Given the description of an element on the screen output the (x, y) to click on. 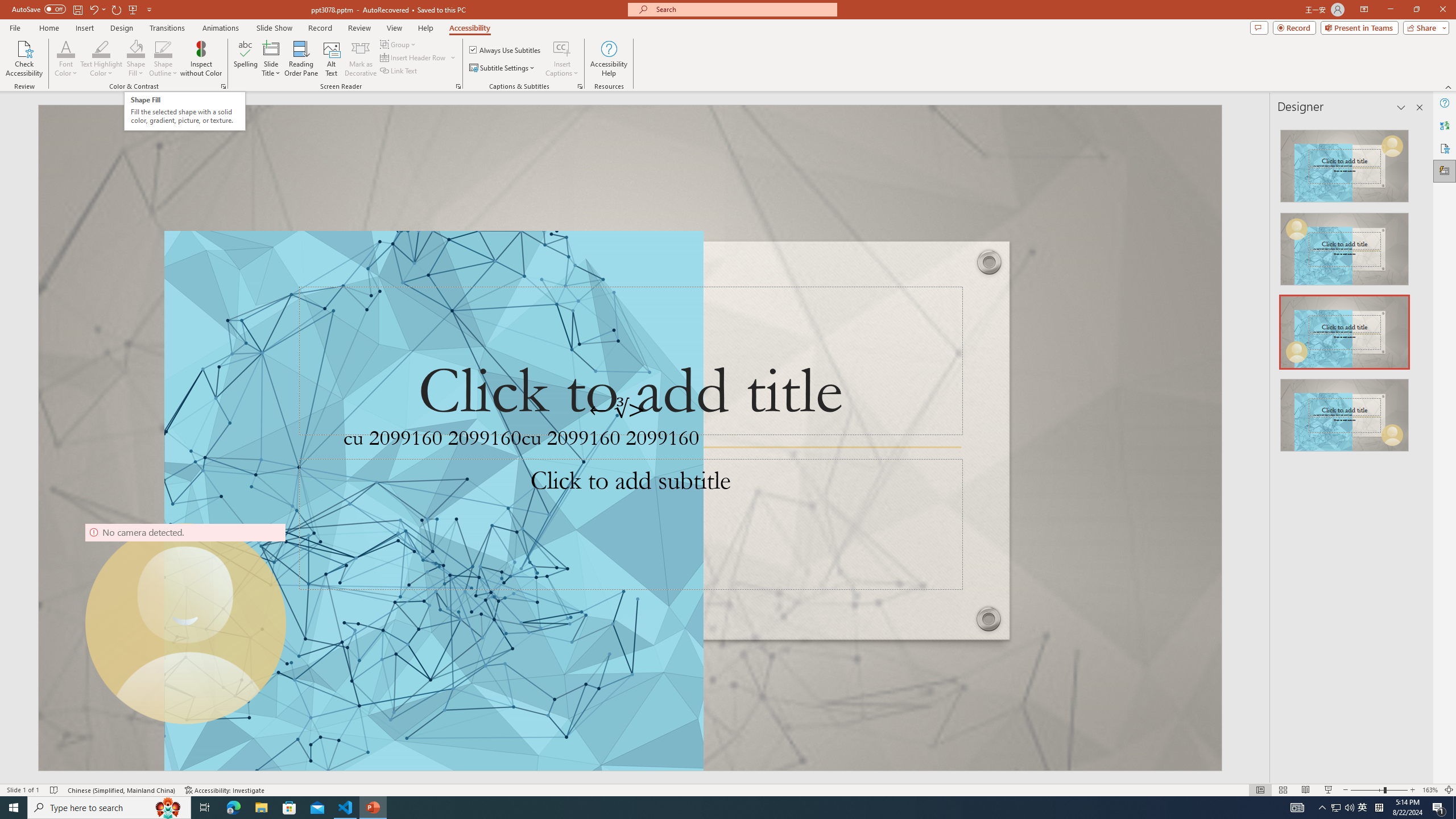
Color & Contrast (223, 85)
Check Accessibility (23, 58)
Shape Outline (163, 58)
Mark as Decorative (360, 58)
